Given the description of an element on the screen output the (x, y) to click on. 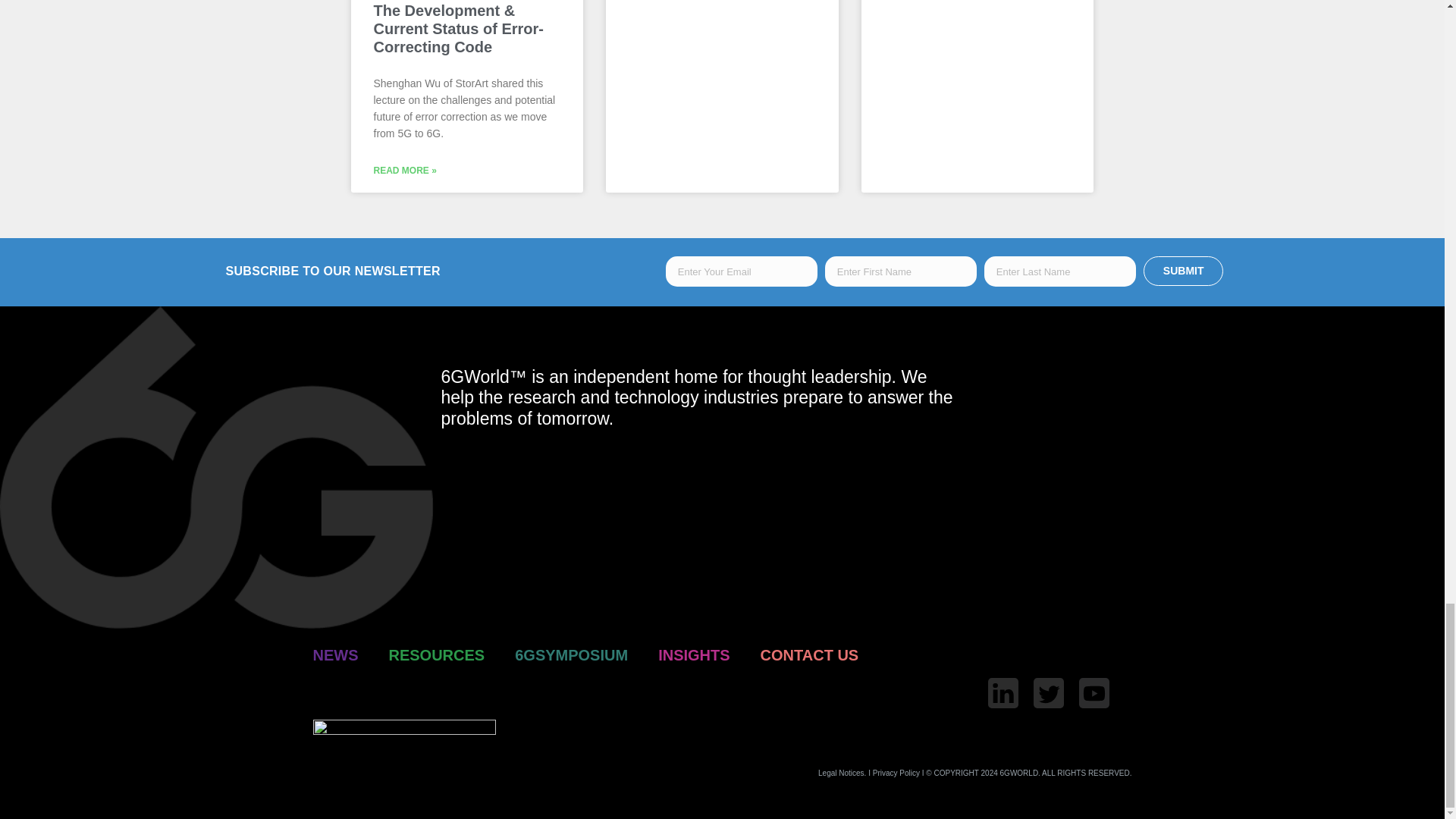
RESOURCES (436, 654)
NEWS (335, 654)
Submit (1182, 270)
Submit (1182, 270)
INSIGHTS (693, 654)
6GSYMPOSIUM (571, 654)
